Given the description of an element on the screen output the (x, y) to click on. 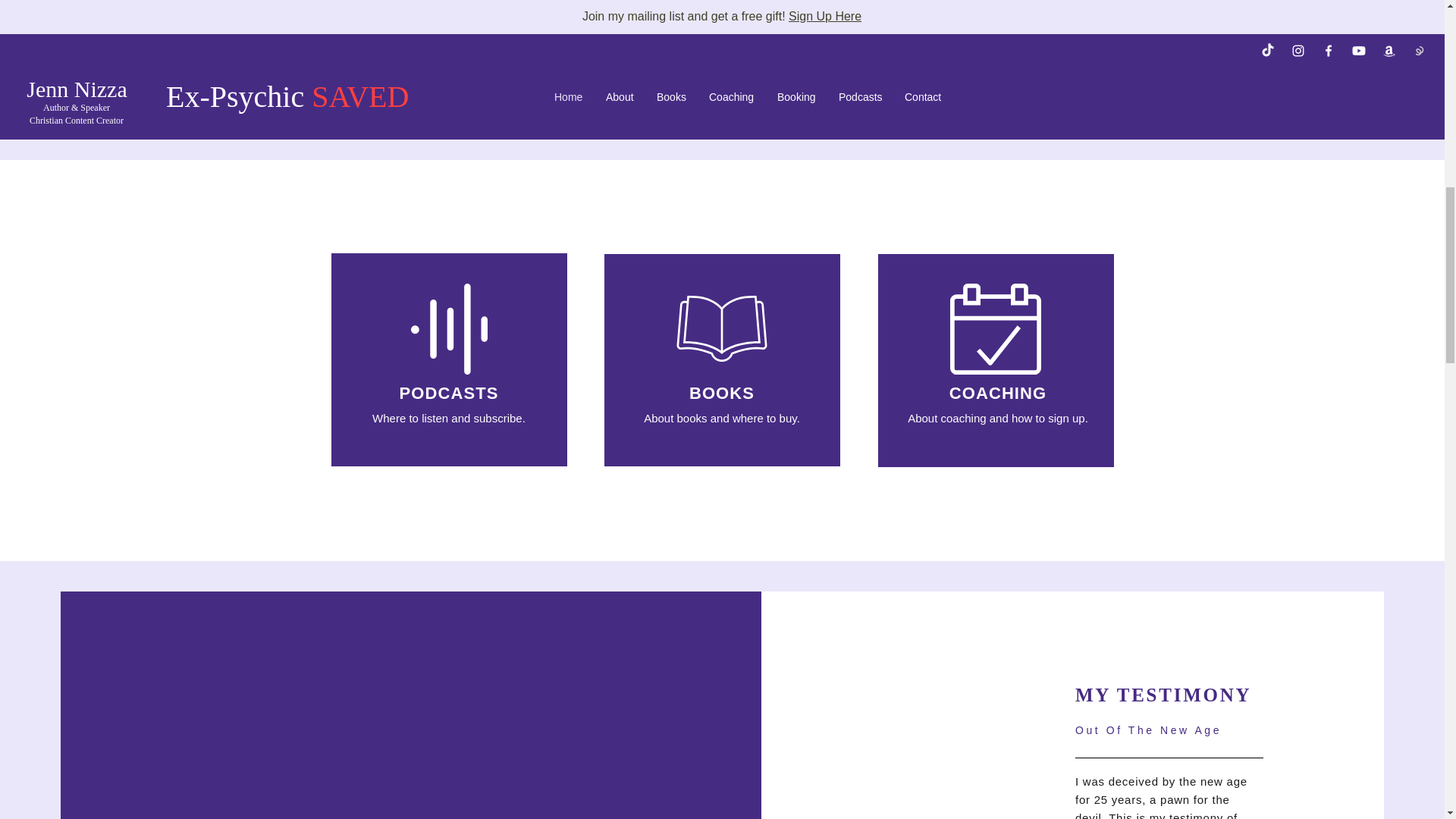
THE CHRISTIAN POST (701, 79)
COACHING (997, 393)
CBN NEWS (464, 66)
About coaching and how to sign up. (997, 418)
BOOKS (721, 393)
PODCASTS (447, 393)
Where to listen and subscribe. (448, 418)
